Given the description of an element on the screen output the (x, y) to click on. 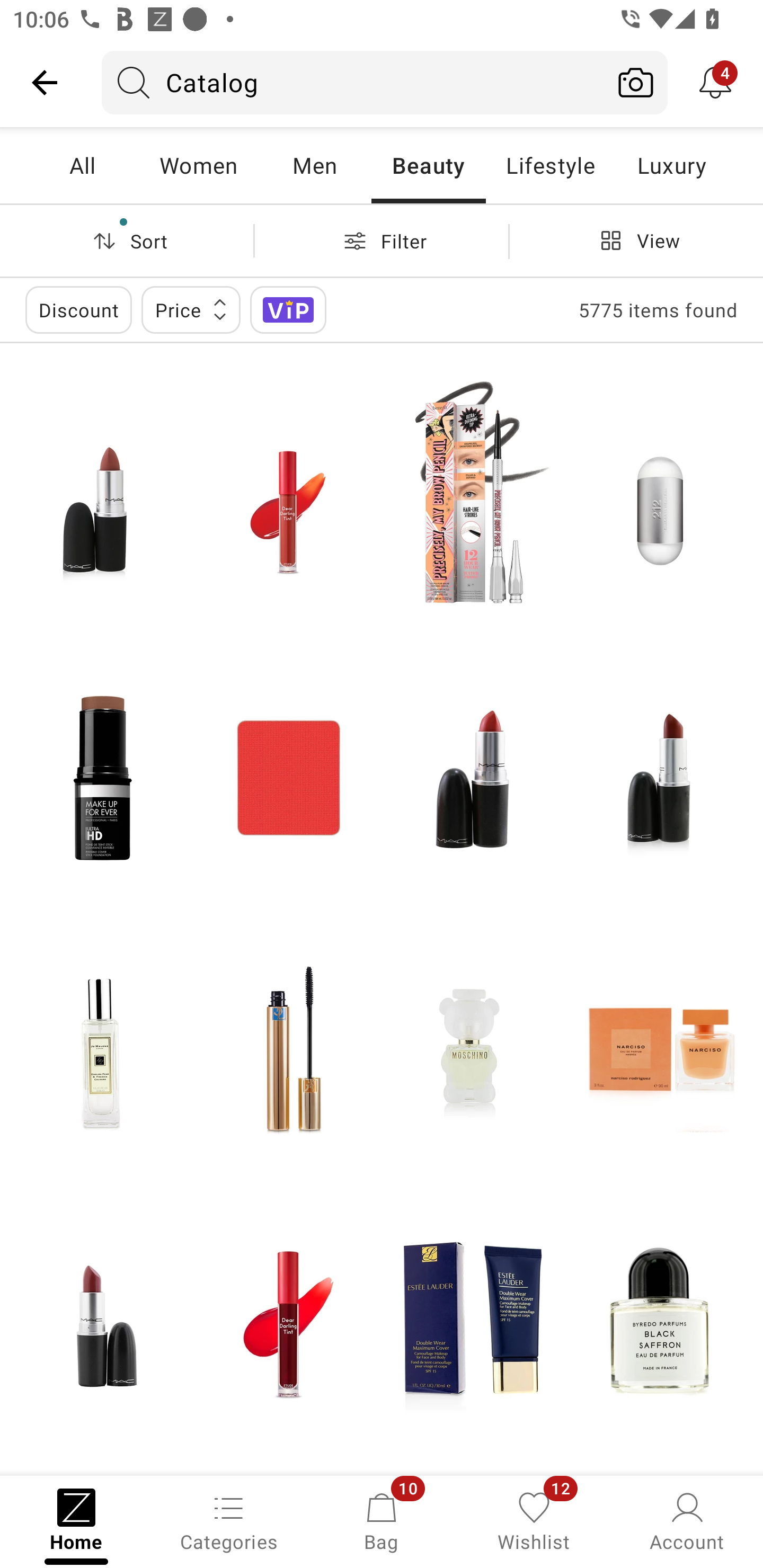
Navigate up (44, 82)
Catalog (352, 82)
All (82, 165)
Women (198, 165)
Men (314, 165)
Lifestyle (550, 165)
Luxury (671, 165)
Sort (126, 240)
Filter (381, 240)
View (636, 240)
Discount (78, 309)
Price (190, 309)
Categories (228, 1519)
Bag, 10 new notifications Bag (381, 1519)
Wishlist, 12 new notifications Wishlist (533, 1519)
Account (686, 1519)
